Given the description of an element on the screen output the (x, y) to click on. 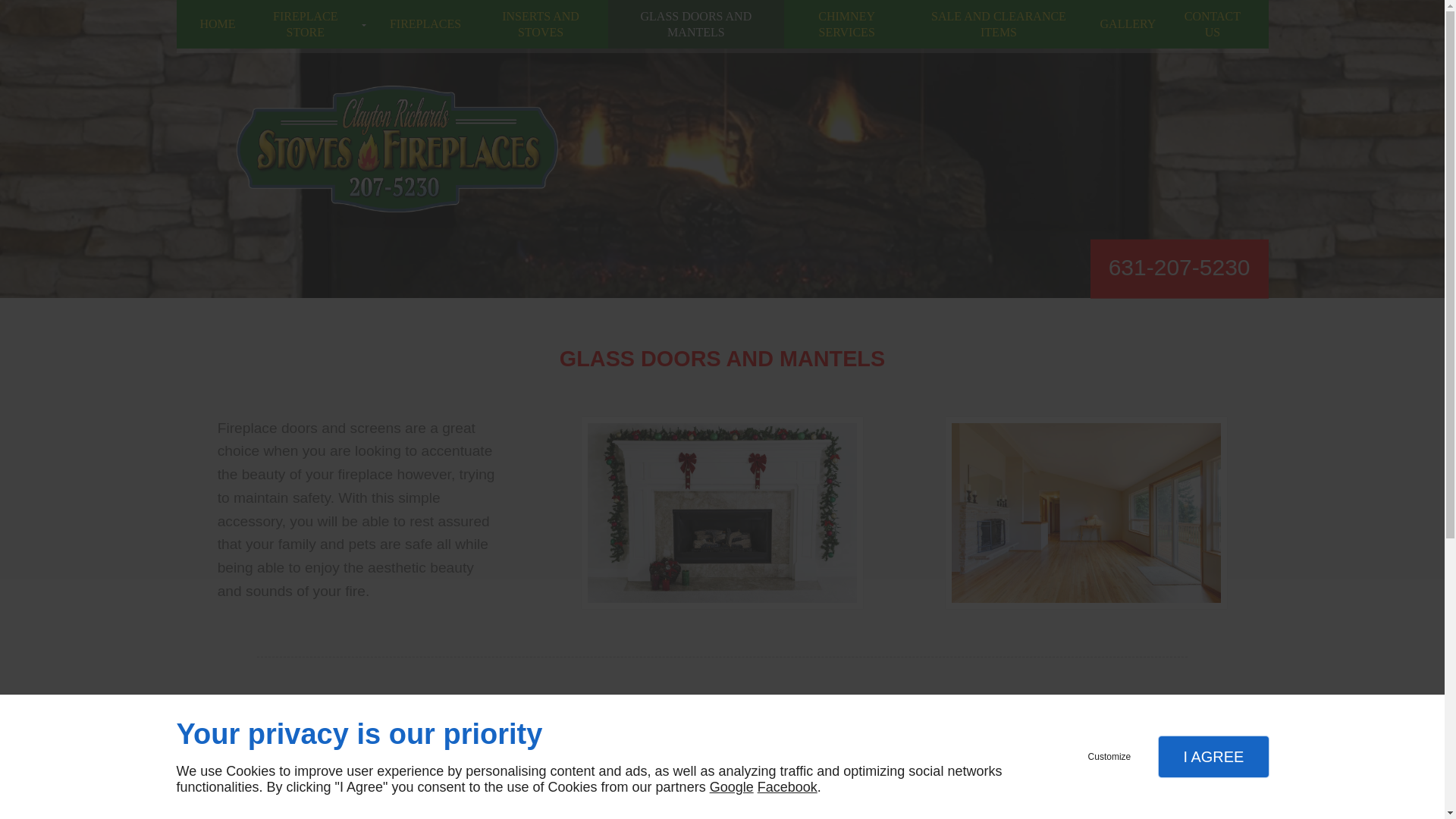
FIREPLACES (425, 24)
FIREPLACE STORE (312, 24)
INSERTS AND STOVES (540, 24)
HOME (217, 24)
CHIMNEY SERVICES (847, 24)
GLASS DOORS AND MANTELS (696, 24)
